Given the description of an element on the screen output the (x, y) to click on. 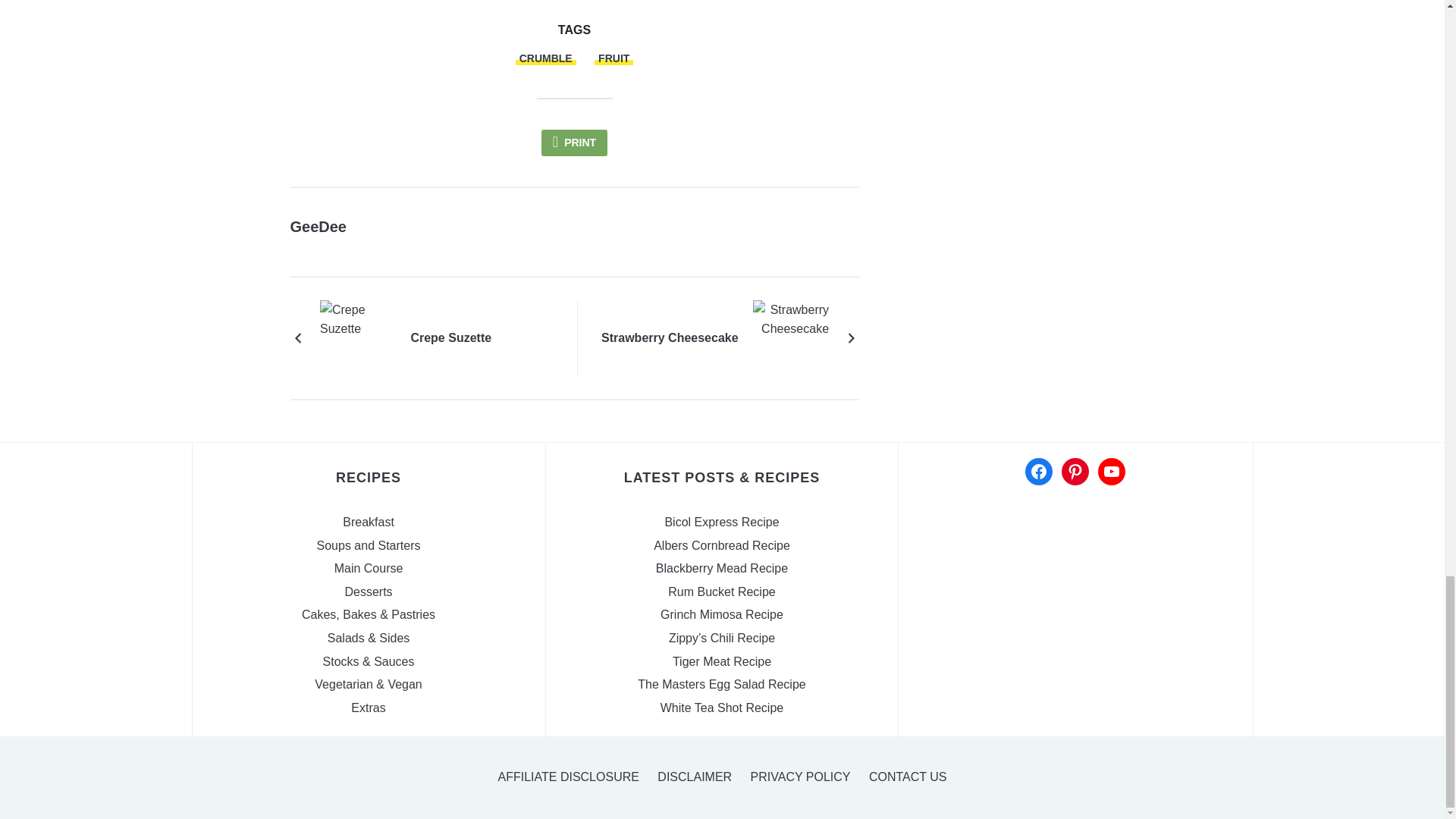
Crepe Suzette (451, 338)
Strawberry Cheesecake (669, 338)
Strawberry Cheesecake (790, 336)
Posts by GeeDee (317, 226)
Print this Page (574, 142)
Crepe Suzette (357, 336)
